Given the description of an element on the screen output the (x, y) to click on. 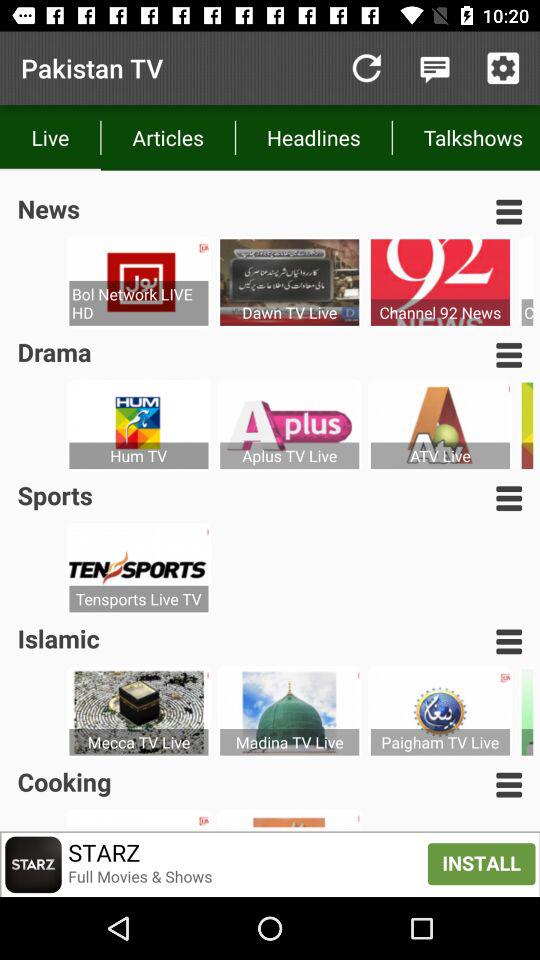
tap the item above the drama icon (138, 303)
